Given the description of an element on the screen output the (x, y) to click on. 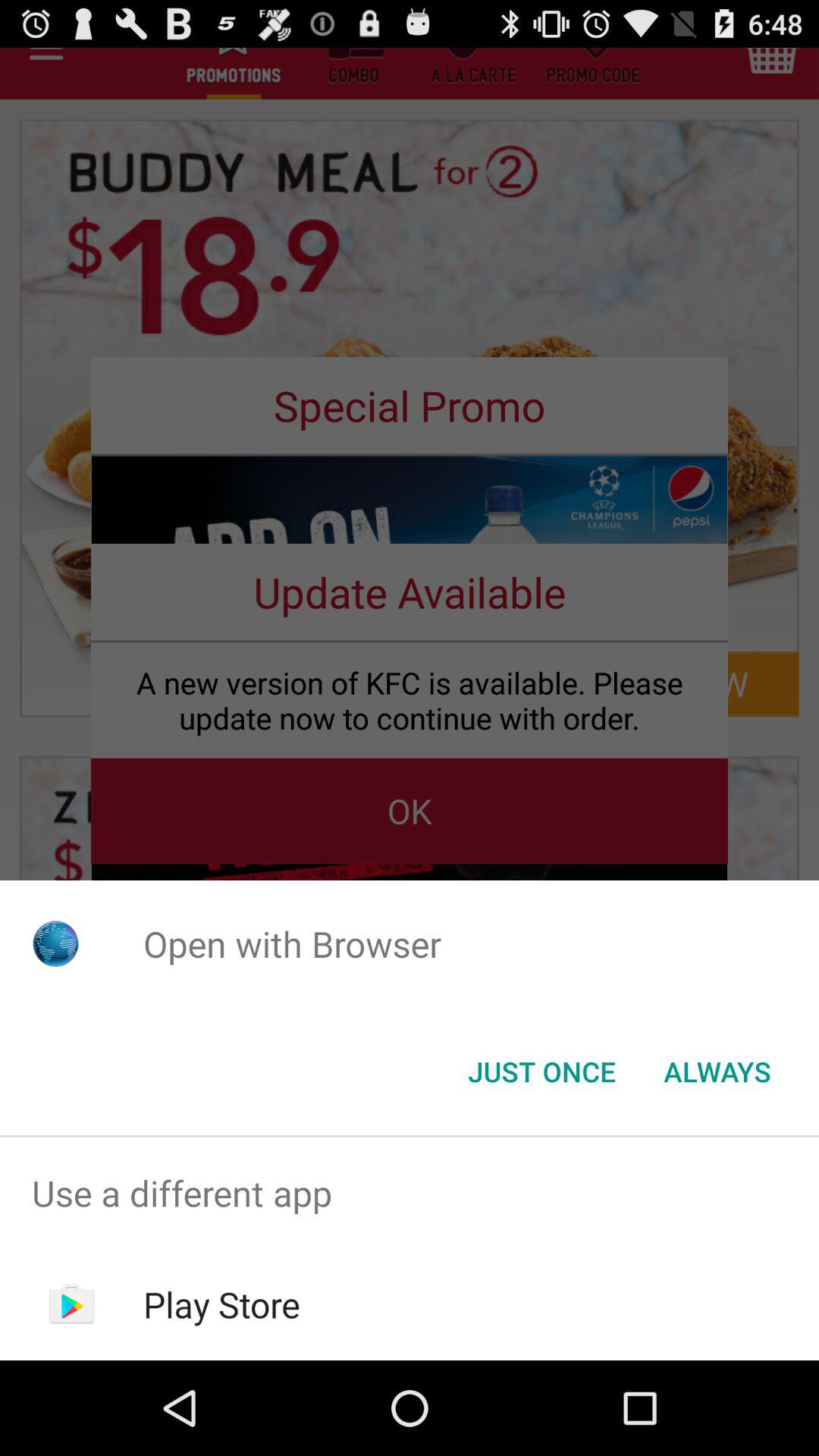
tap the always icon (717, 1071)
